Given the description of an element on the screen output the (x, y) to click on. 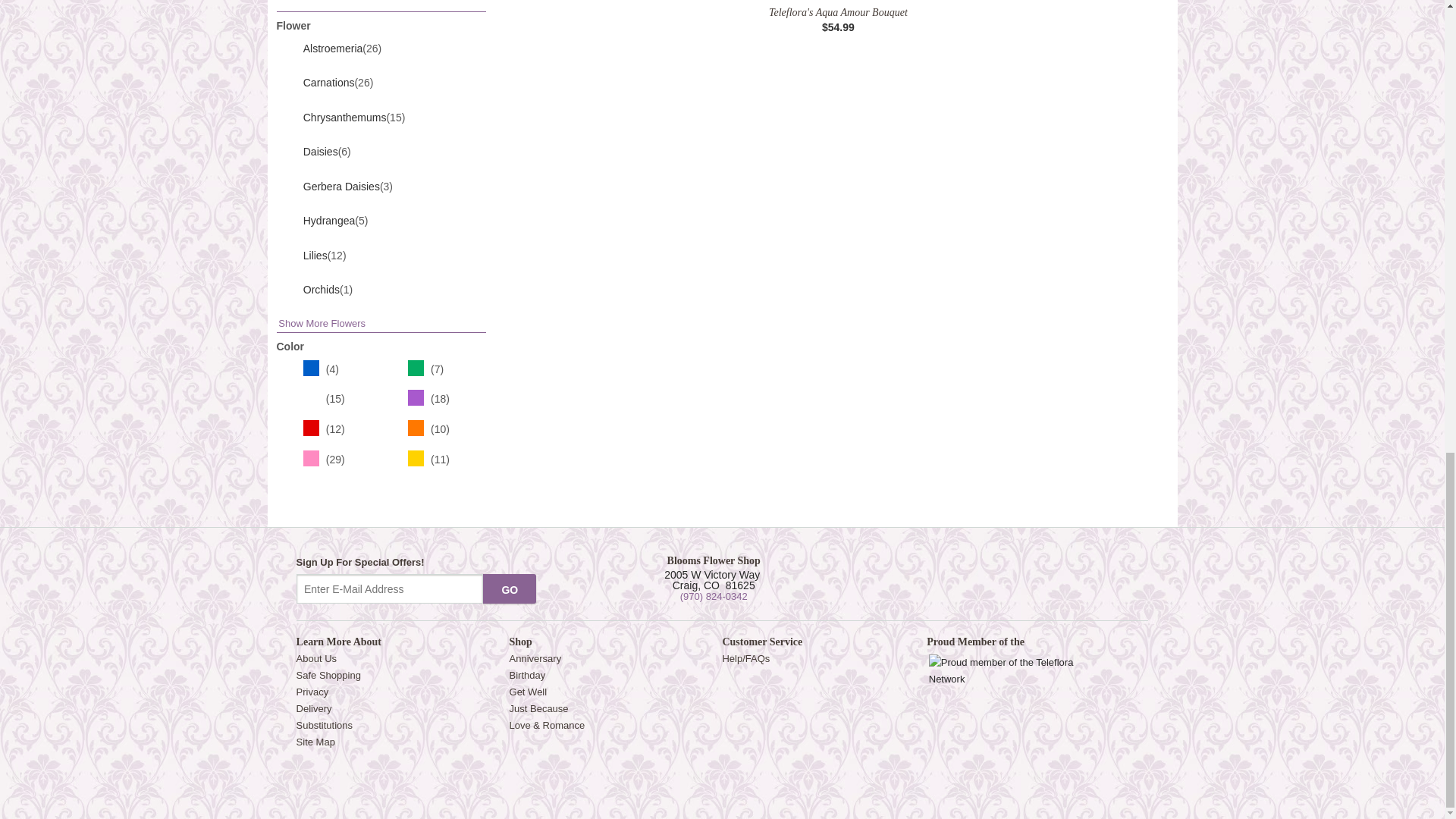
Go (509, 589)
Email Sign up (390, 589)
go (509, 589)
